Given the description of an element on the screen output the (x, y) to click on. 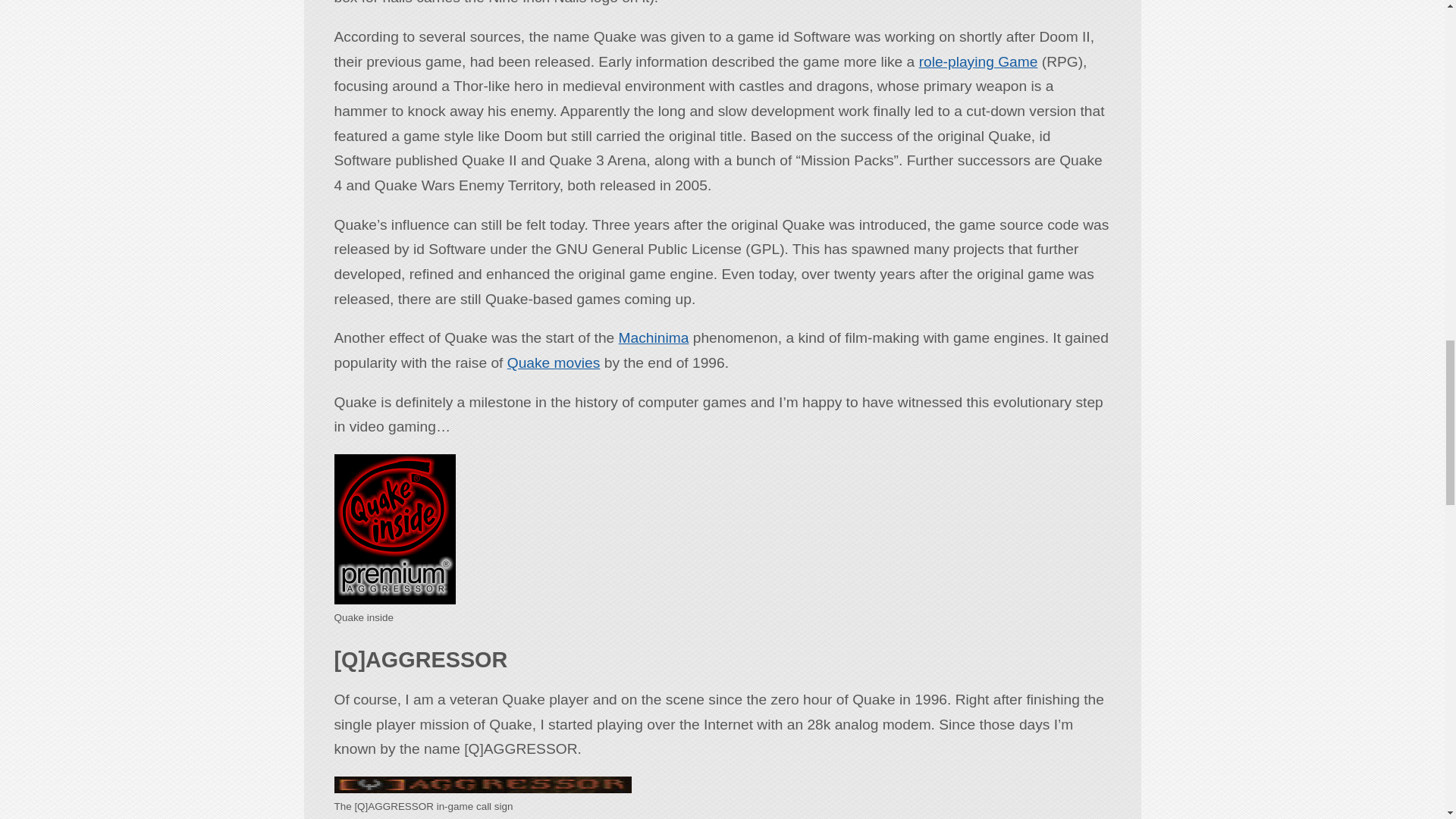
Quake movies (552, 362)
role-playing Game (978, 61)
Machinima (653, 337)
